Given the description of an element on the screen output the (x, y) to click on. 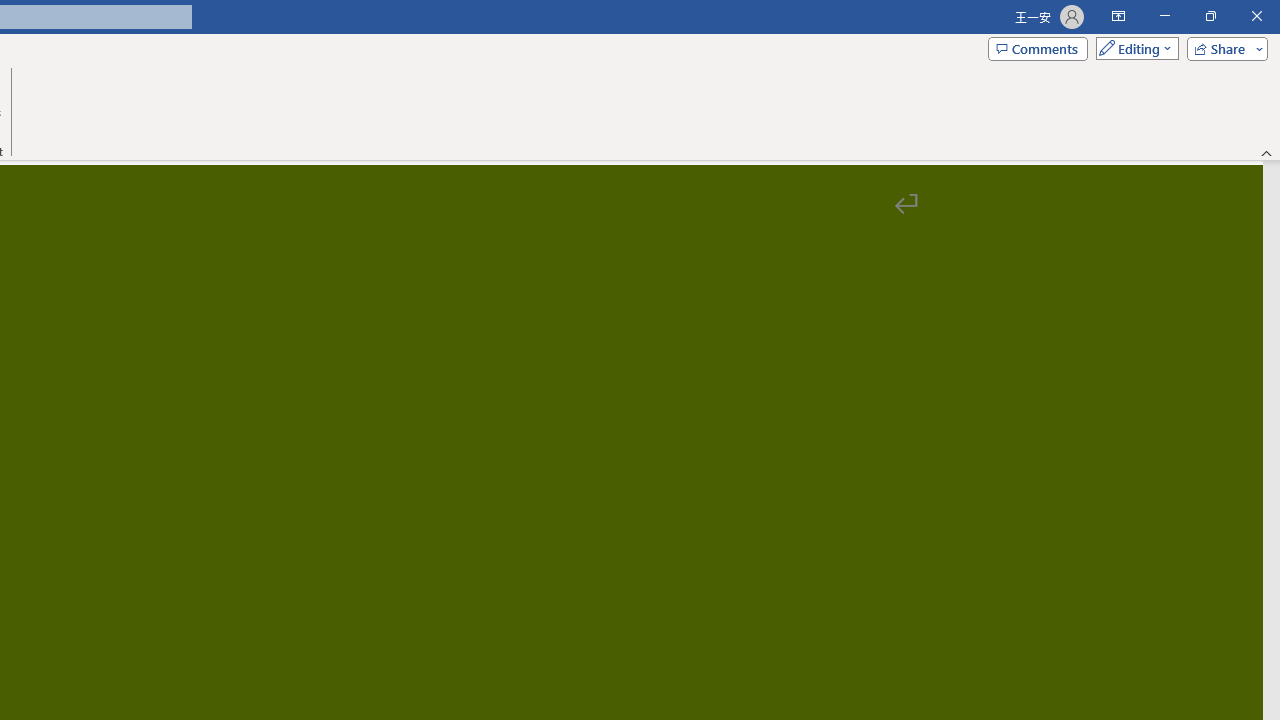
Minimize (1164, 16)
Comments (1038, 48)
Mode (1133, 47)
Collapse the Ribbon (1267, 152)
Ribbon Display Options (1118, 16)
Restore Down (1210, 16)
Share (1223, 48)
